Given the description of an element on the screen output the (x, y) to click on. 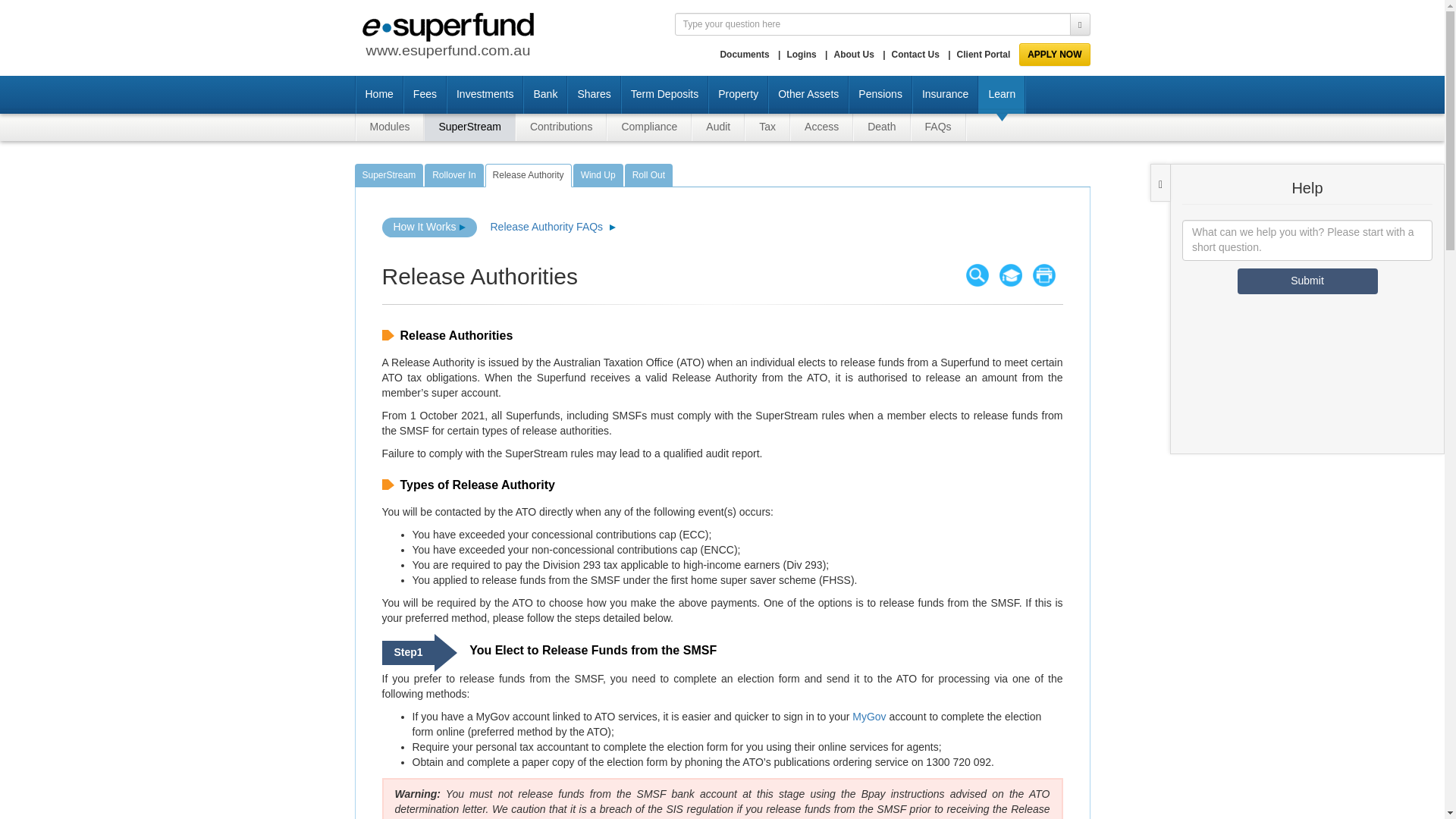
Release Authority (528, 175)
FAQs (938, 126)
SuperStream (389, 175)
Fees (424, 94)
Roll Out (648, 175)
About Us (853, 54)
How It Works (429, 227)
Documents (743, 54)
Property (737, 94)
Logins (801, 54)
Client Portal (983, 54)
Learn (1001, 94)
Compliance (648, 126)
Shares (593, 94)
Insurance (944, 94)
